Given the description of an element on the screen output the (x, y) to click on. 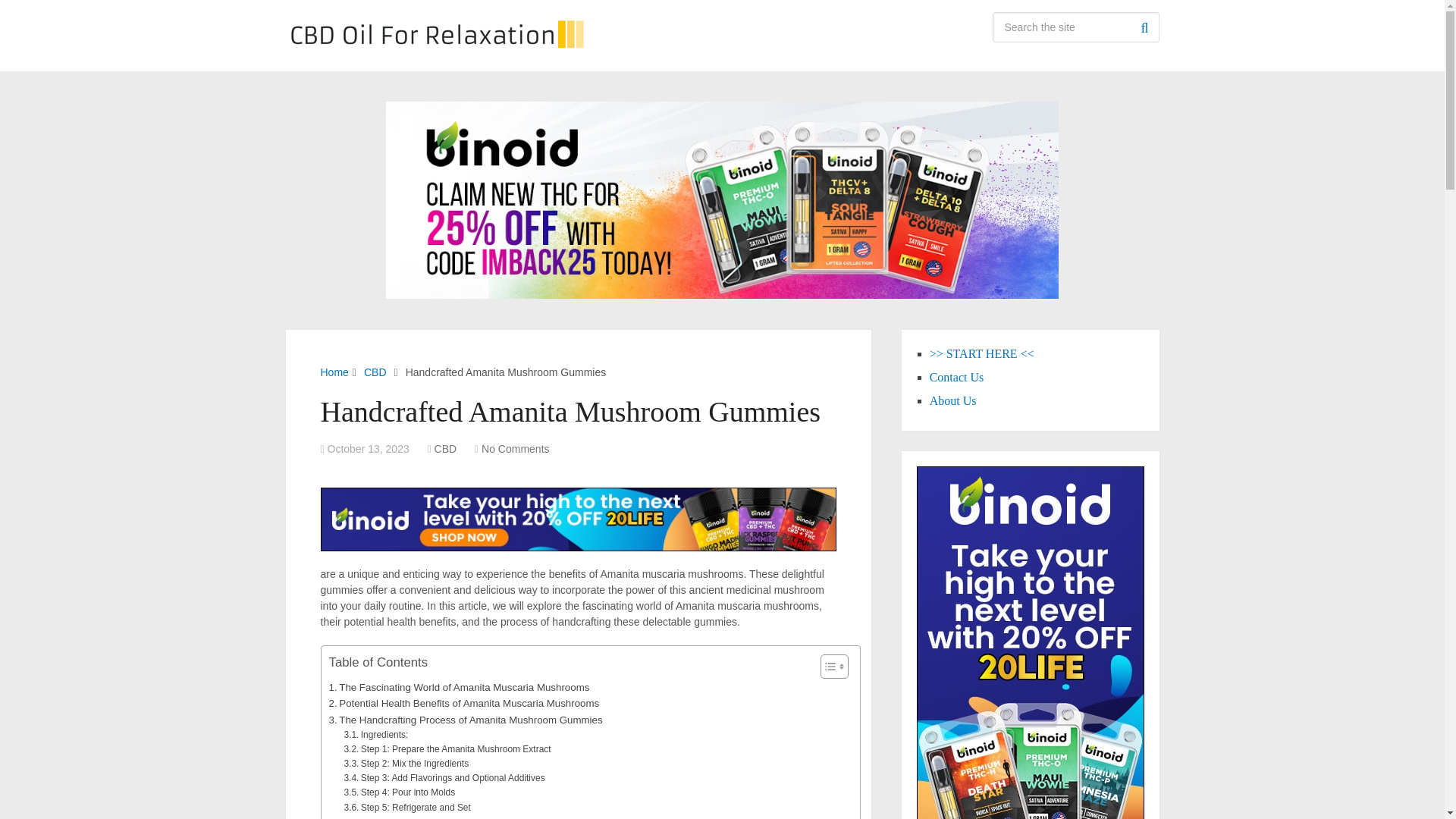
Home (333, 372)
Potential Health Benefits of Amanita Muscaria Mushrooms (464, 703)
The Handcrafting Process of Amanita Mushroom Gummies (465, 719)
Potential Health Benefits of Amanita Muscaria Mushrooms (464, 703)
Ingredients: (375, 735)
About Us (953, 400)
Step 1: Prepare the Amanita Mushroom Extract (446, 749)
Step 4: Pour into Molds (398, 792)
Search (1143, 27)
Step 4: Pour into Molds (398, 792)
Contact Us (957, 377)
Enjoying (353, 816)
Step 5: Refrigerate and Set (406, 807)
View all posts in CBD (445, 449)
Step 3: Add Flavorings and Optional Additives (443, 778)
